Given the description of an element on the screen output the (x, y) to click on. 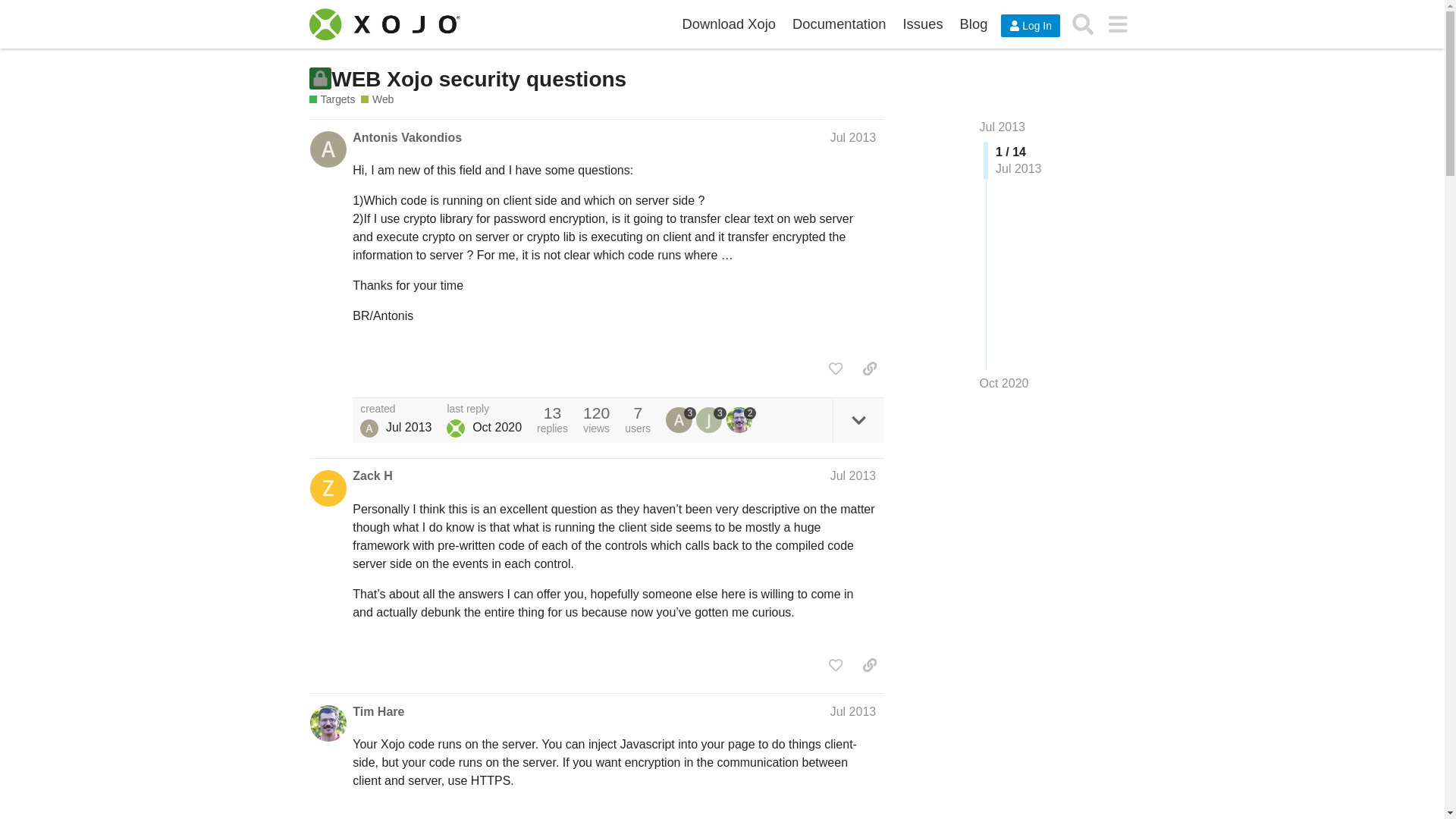
Jul 2013 (852, 137)
Zack H (371, 475)
copy a link to this post to clipboard (869, 368)
Search (1082, 23)
Jul 2013 (1002, 126)
Oct 2020 (1004, 383)
Post date (852, 137)
last reply (483, 409)
Jul 2013 (852, 475)
Jump to the last post (1004, 382)
